Given the description of an element on the screen output the (x, y) to click on. 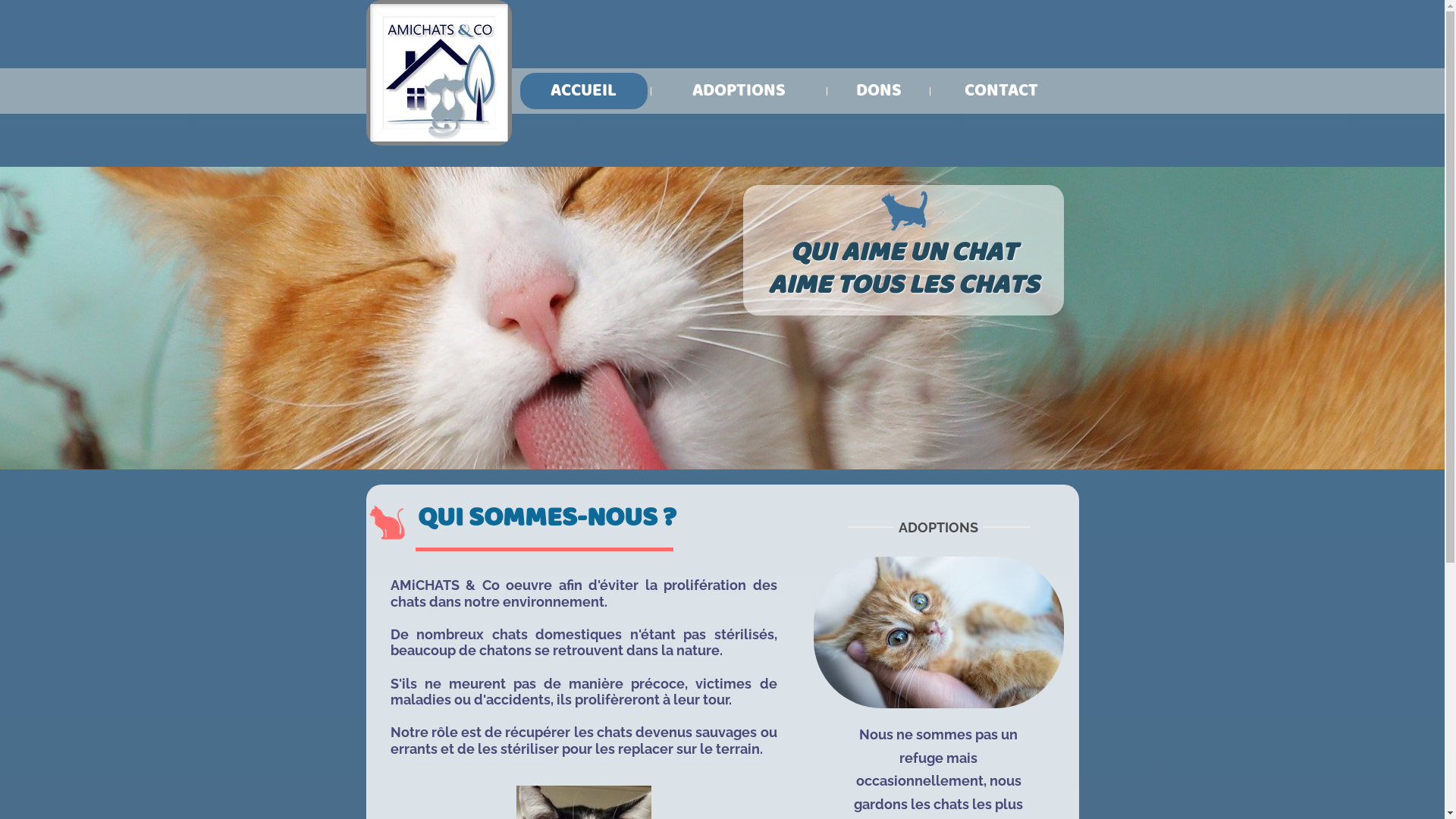
ACCUEIL Element type: text (584, 90)
ADOPTIONS Element type: text (738, 90)
DONS Element type: text (878, 90)
CONTACT Element type: text (1001, 90)
